Given the description of an element on the screen output the (x, y) to click on. 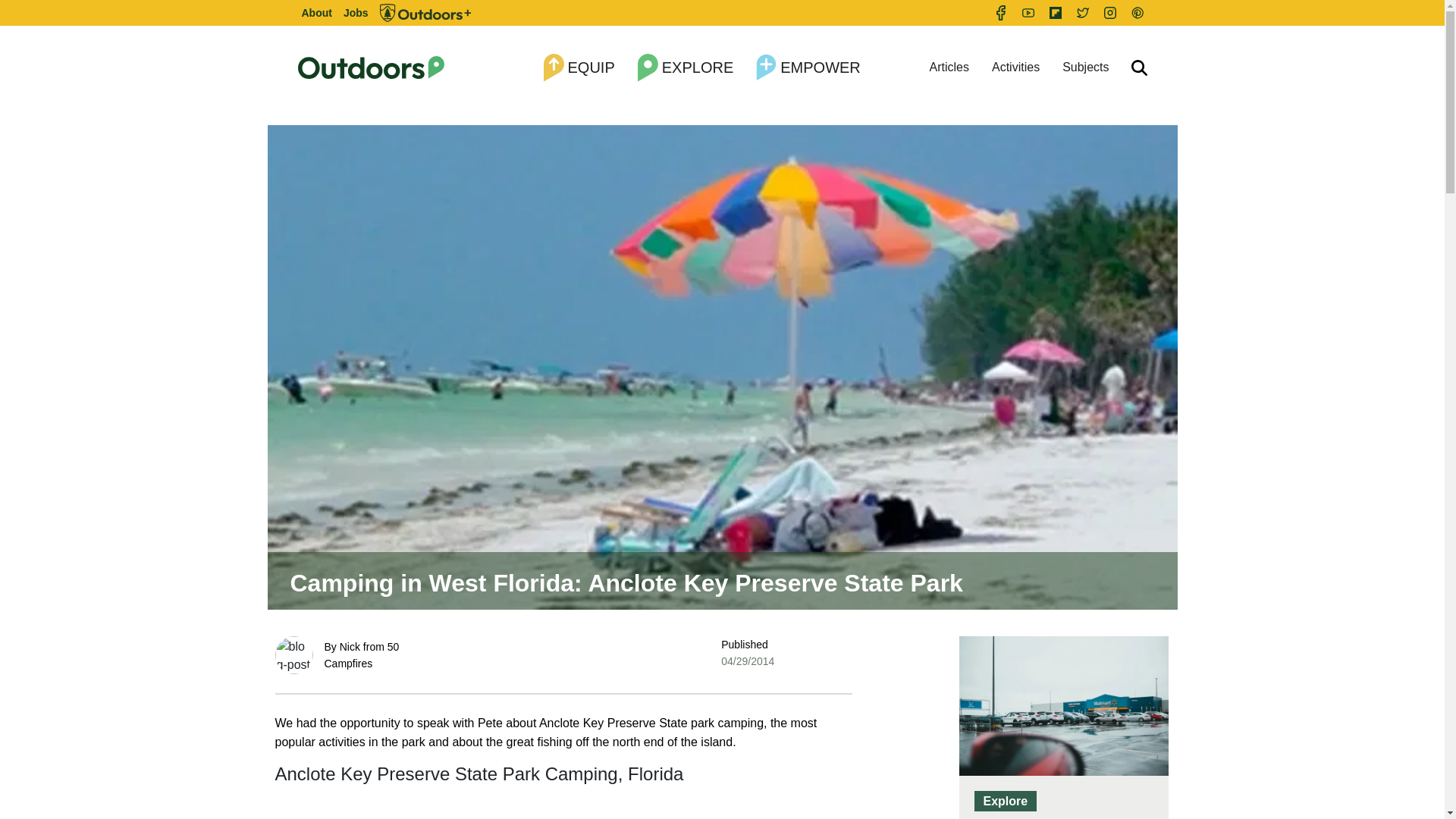
Subjects (1085, 67)
EXPLORE (685, 67)
Activities (1015, 67)
EQUIP (578, 67)
EMPOWER (807, 67)
About (316, 13)
Articles (949, 67)
Jobs (355, 13)
